Given the description of an element on the screen output the (x, y) to click on. 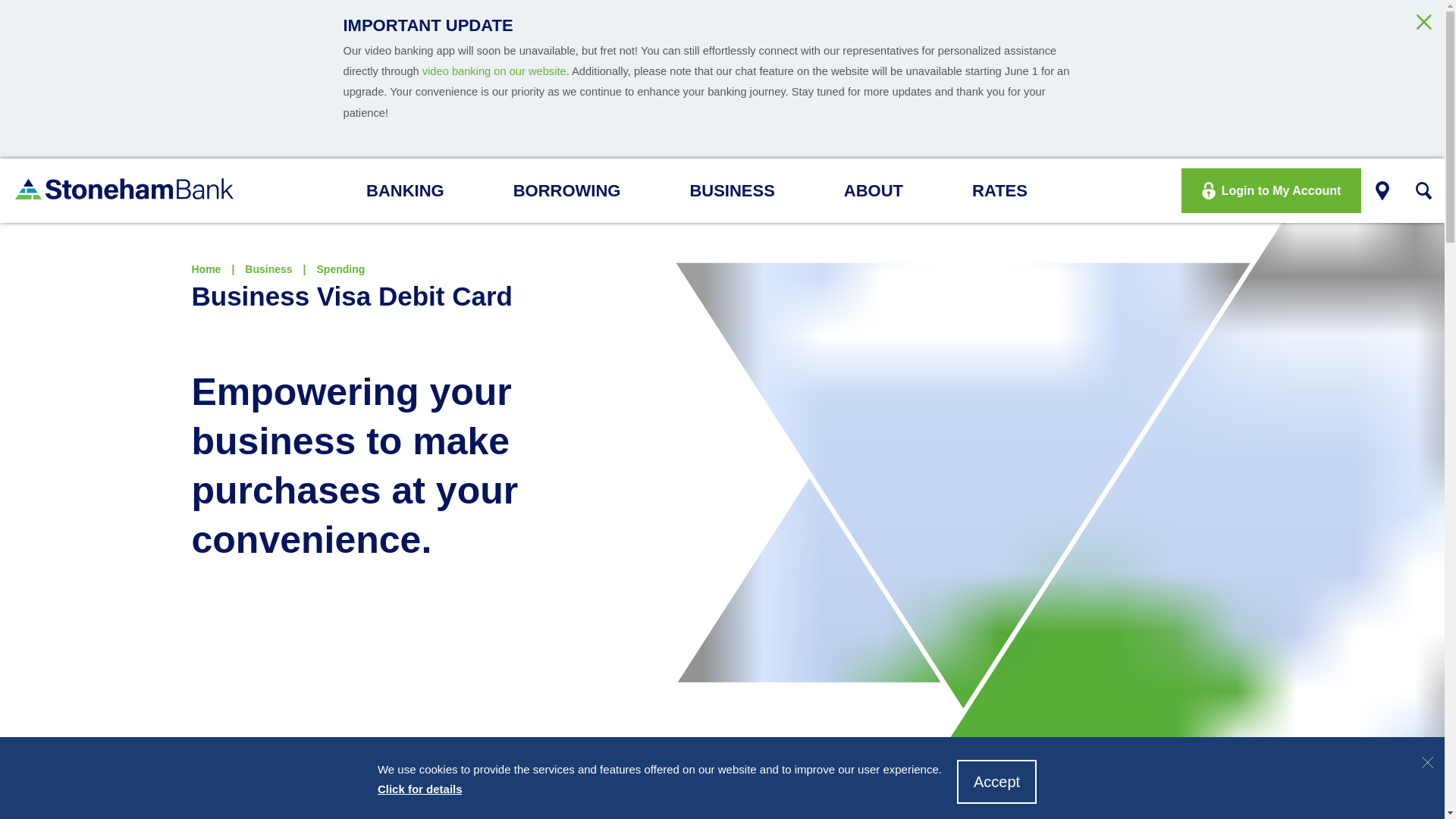
video banking on our website (494, 70)
BANKING (415, 190)
